Given the description of an element on the screen output the (x, y) to click on. 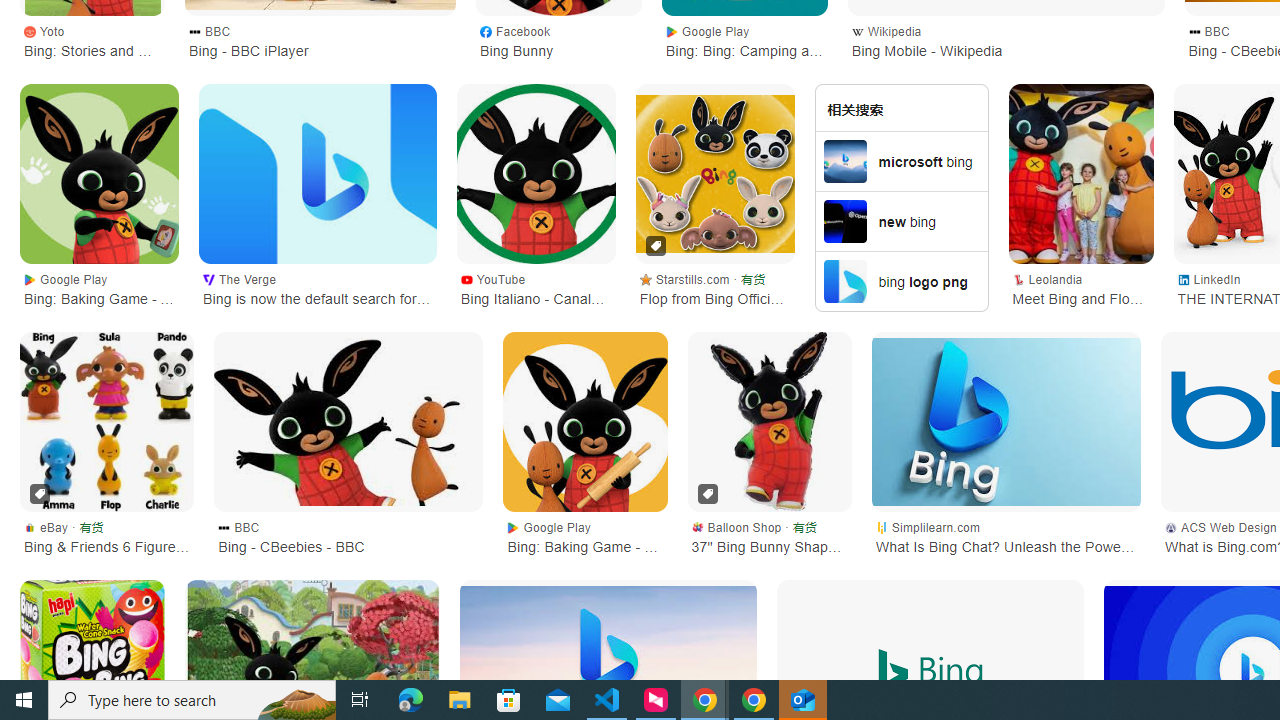
new bing (901, 220)
Bing is now the default search for ChatGPT - The Verge (317, 174)
Bing is now the default search for ChatGPT - The Verge (317, 174)
YouTube Bing Italiano - Canale Ufficiale - YouTube (535, 287)
Yoto Bing: Stories and Songs (92, 39)
What Is Bing Chat? Unleash the Power of GPT-4 With Bing Chat (1005, 421)
Bing - CBeebies - BBC (348, 421)
Meet Bing and Flop - Leolandia (1081, 174)
